Given the description of an element on the screen output the (x, y) to click on. 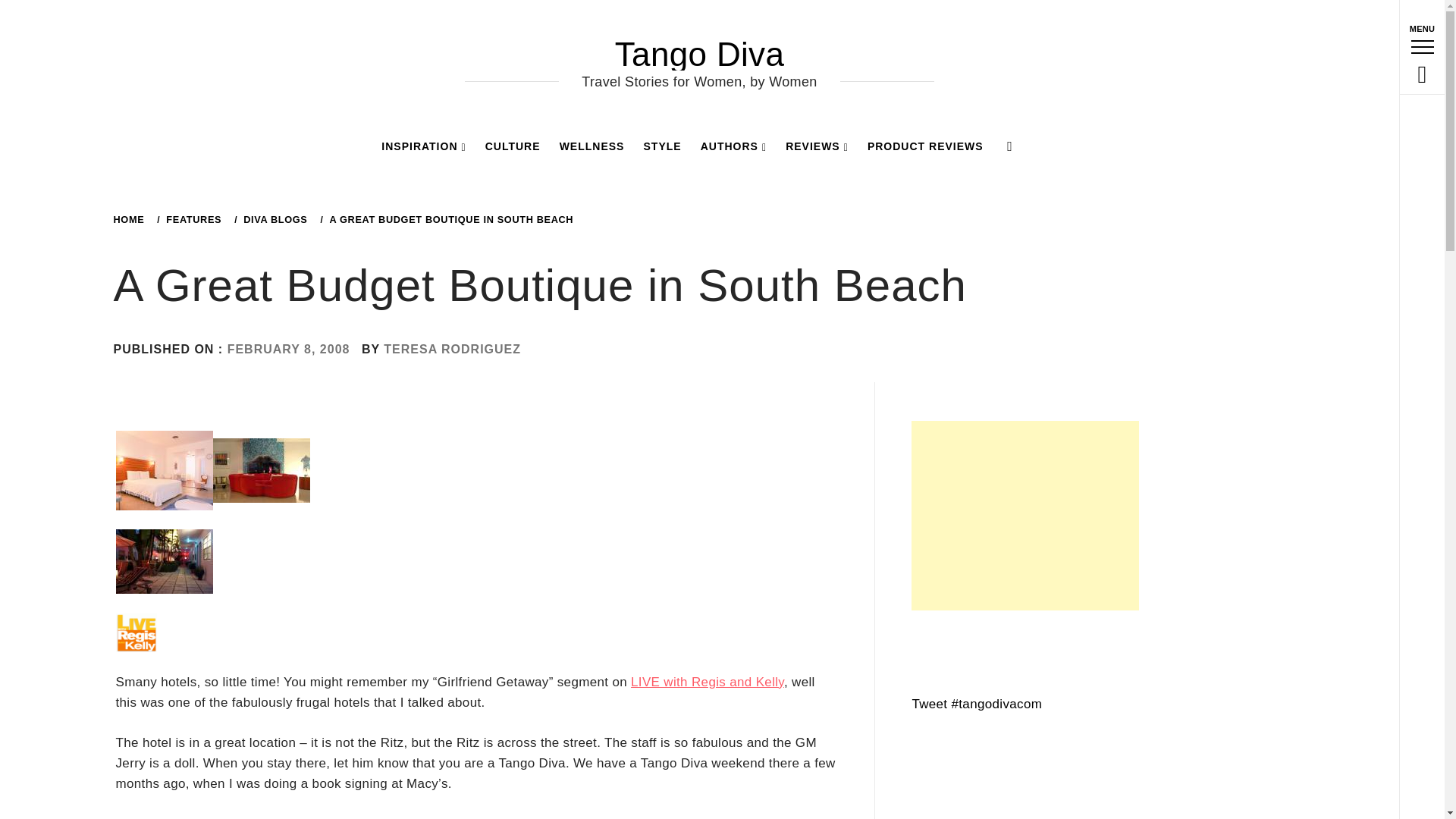
A GREAT BUDGET BOUTIQUE IN SOUTH BEACH (449, 219)
0-aquanitelite.jpg (163, 560)
CULTURE (512, 145)
DIVA BLOGS (273, 219)
HOME (131, 219)
0-aqualobbysofa.jpg (260, 469)
AUTHORS (733, 145)
INSPIRATION (423, 145)
WELLNESS (591, 145)
TERESA RODRIGUEZ (452, 349)
